Given the description of an element on the screen output the (x, y) to click on. 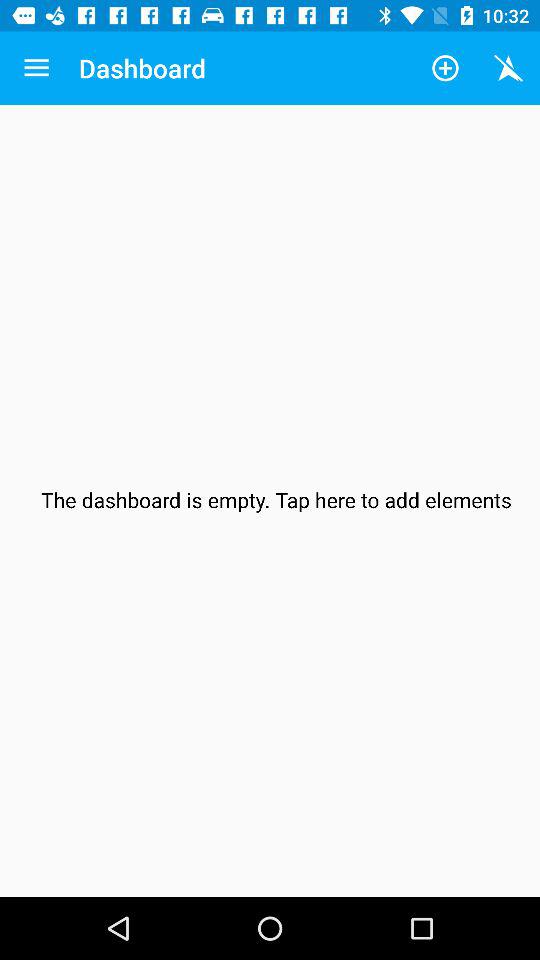
turn on the app to the right of the dashboard icon (444, 67)
